Given the description of an element on the screen output the (x, y) to click on. 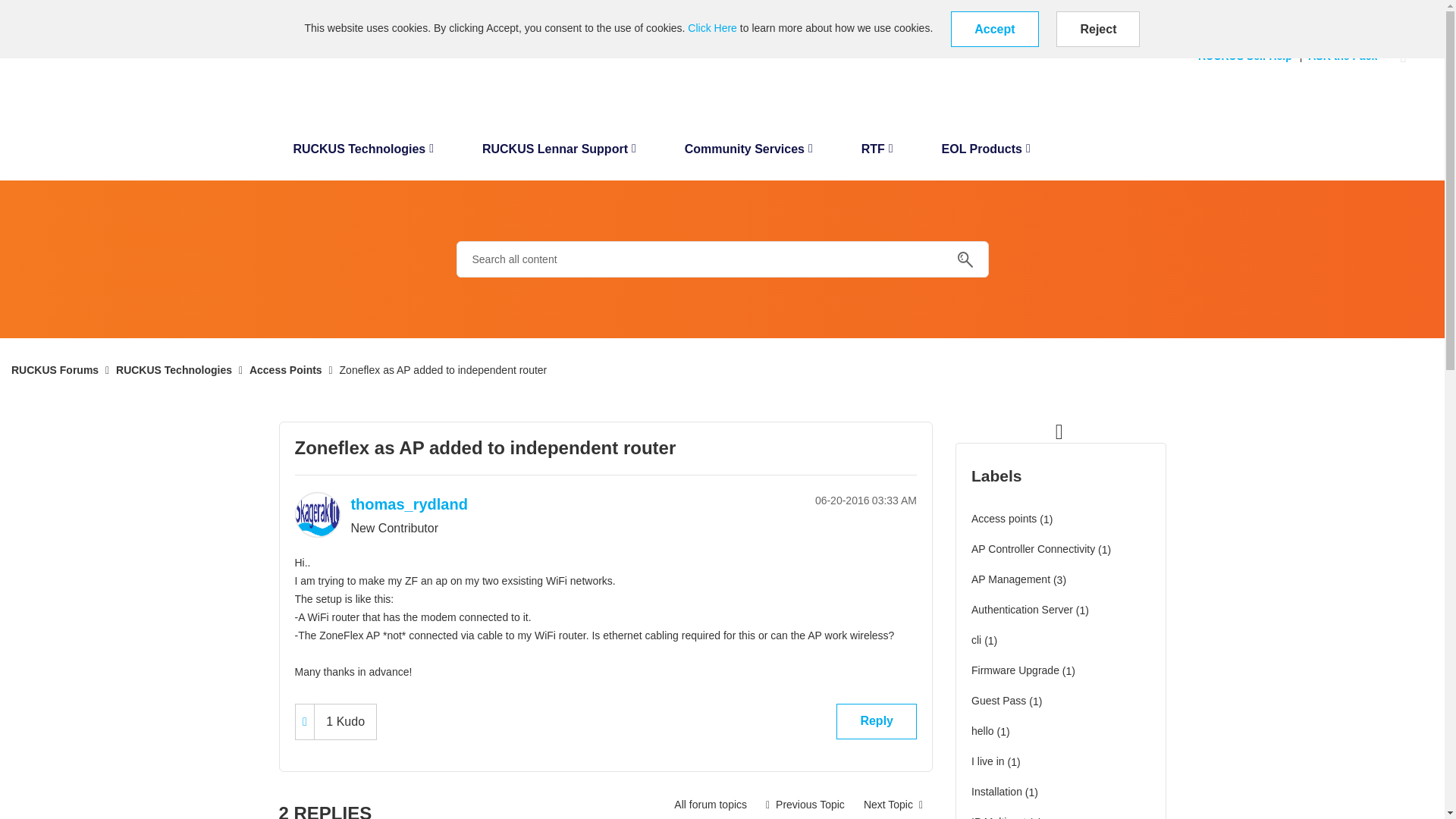
RUCKUS Technologies (363, 153)
RTF (876, 153)
BACK TO SUPPORT PORTAL (74, 10)
Access Points - Indoor and Outdoor (710, 804)
Community Services (748, 153)
RUCKUS Self Help (1249, 55)
PC clients require manual SSID creation (804, 804)
Search (964, 258)
Click Here (711, 28)
RUCKUS Lennar Support (558, 153)
